Given the description of an element on the screen output the (x, y) to click on. 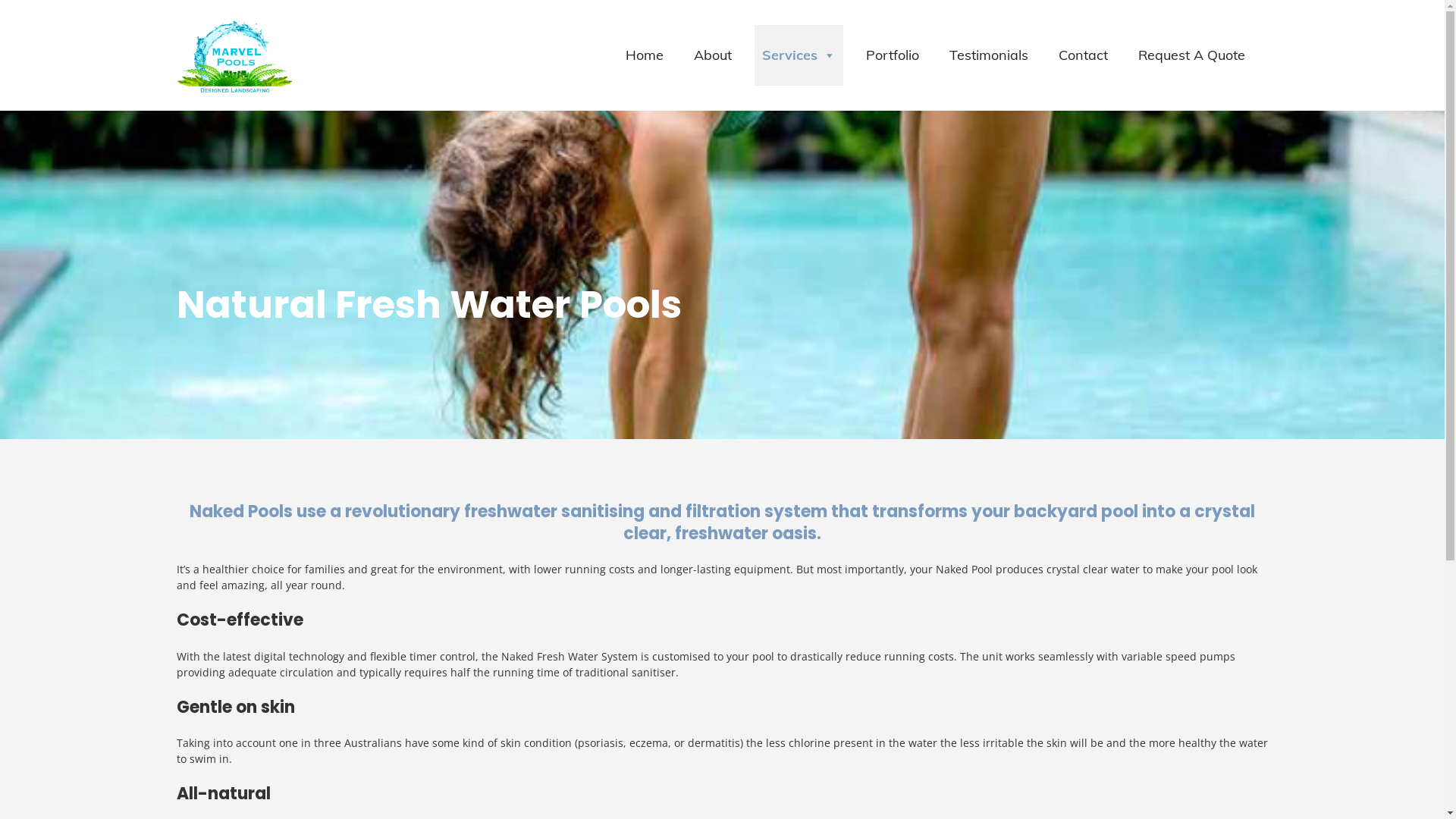
Portfolio Element type: text (892, 55)
Contact Element type: text (1083, 55)
Testimonials Element type: text (988, 55)
Home Element type: text (644, 55)
Services Element type: text (798, 55)
About Element type: text (712, 55)
Request A Quote Element type: text (1191, 55)
